Given the description of an element on the screen output the (x, y) to click on. 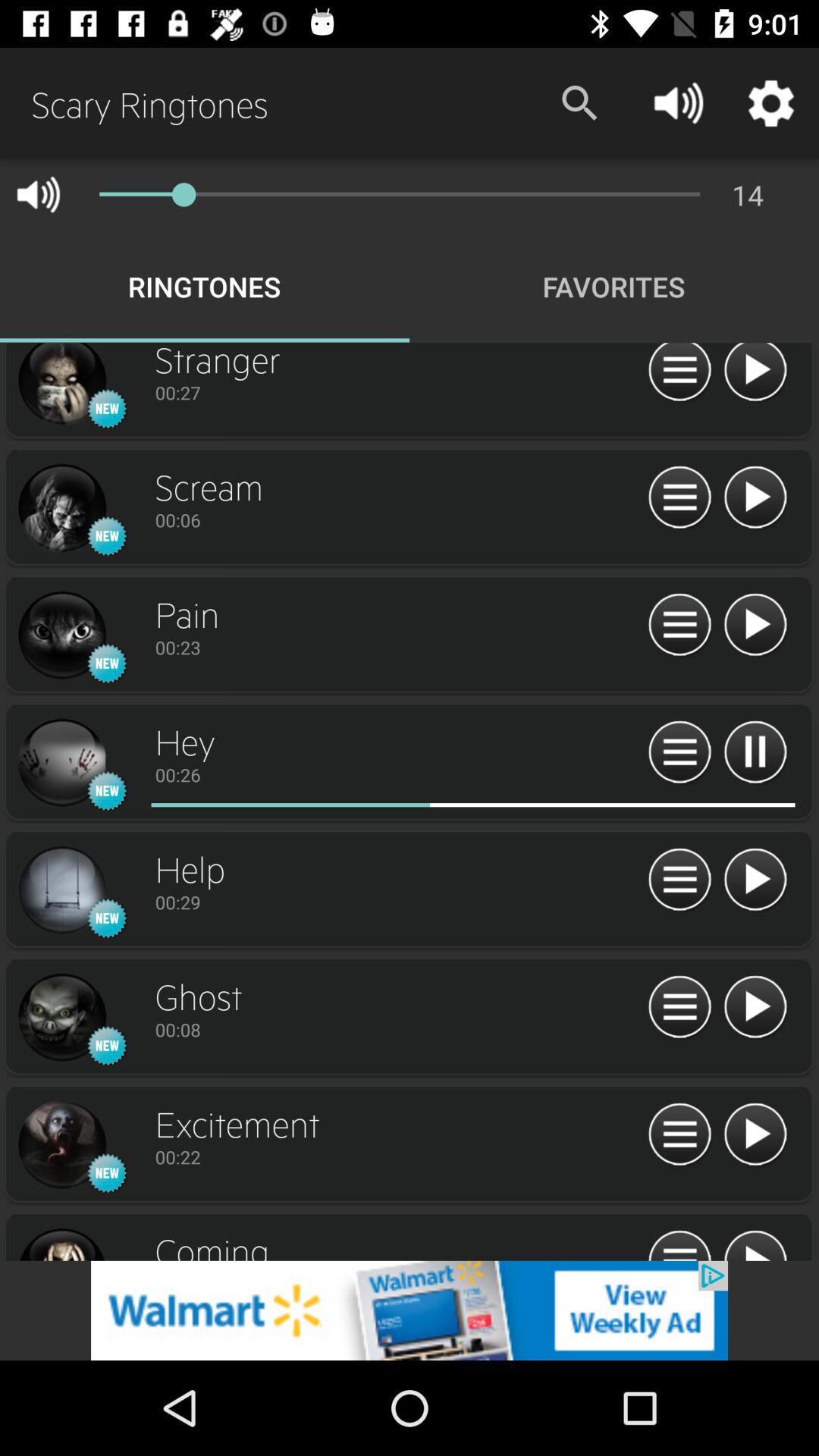
play option (755, 880)
